Given the description of an element on the screen output the (x, y) to click on. 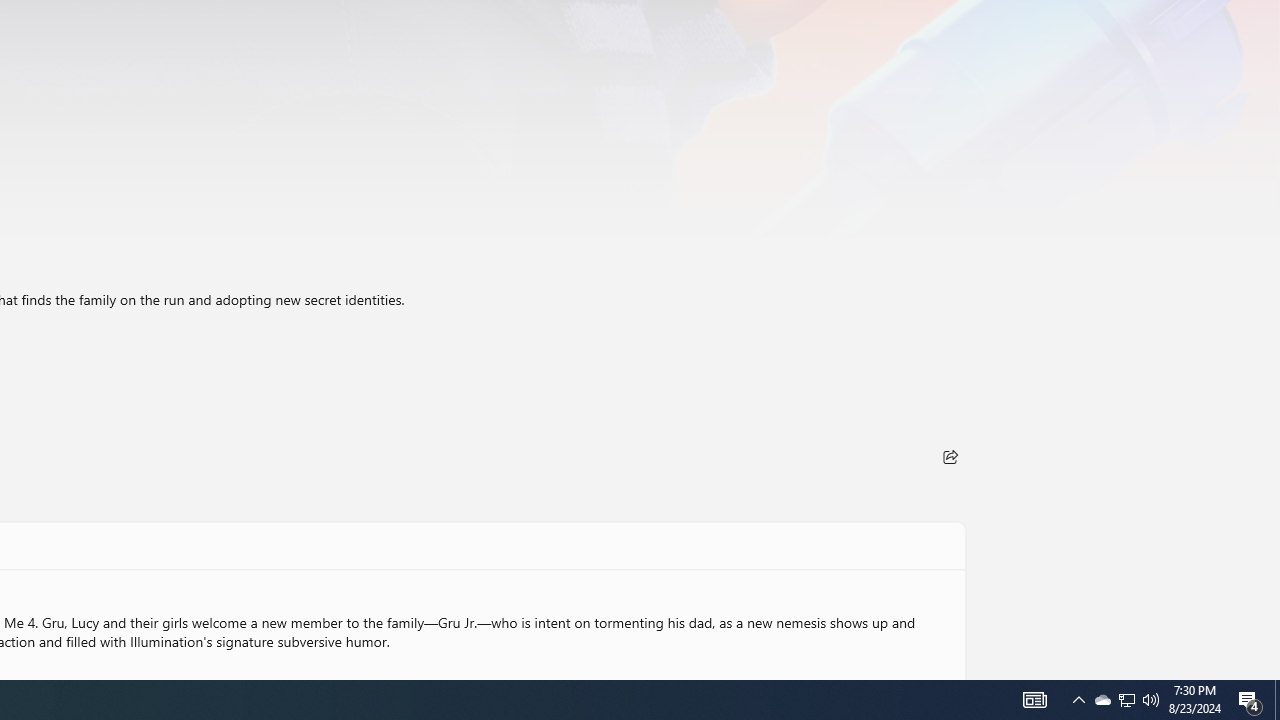
Share (950, 456)
